Given the description of an element on the screen output the (x, y) to click on. 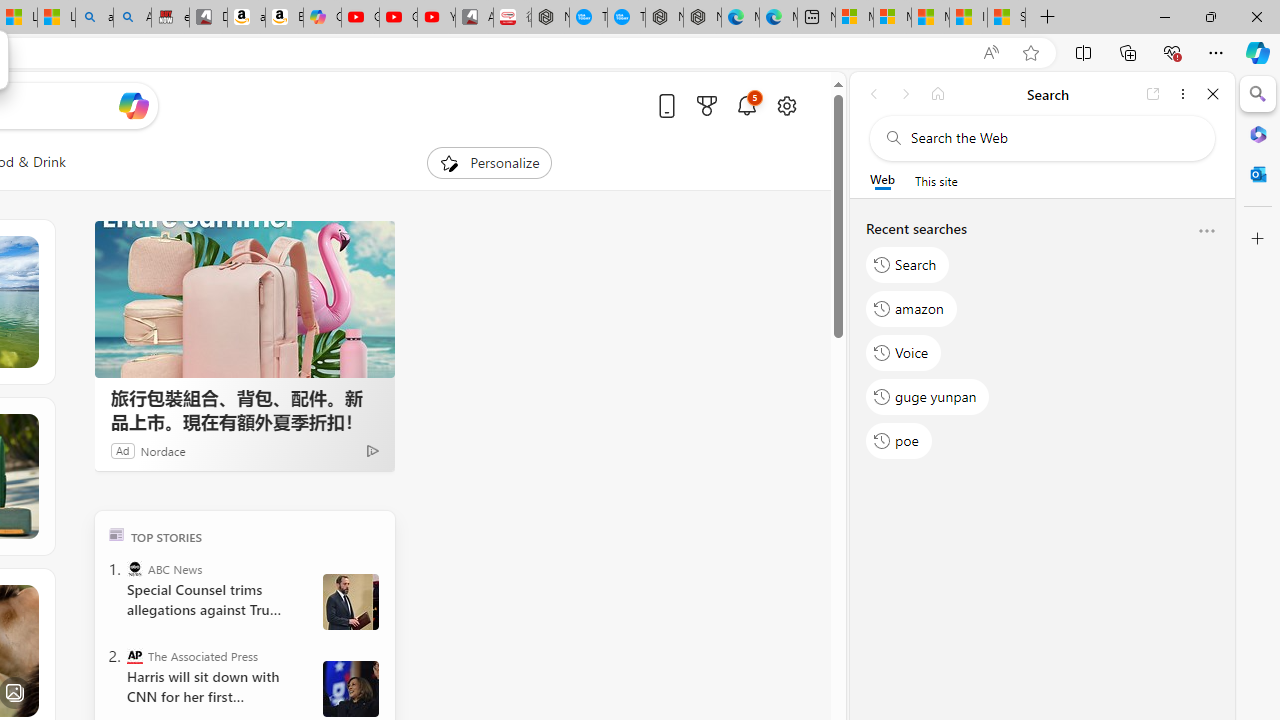
Outlook (1258, 174)
amazon.in/dp/B0CX59H5W7/?tag=gsmcom05-21 (245, 17)
Microsoft 365 (1258, 133)
amazon (911, 308)
poe (898, 441)
